Given the description of an element on the screen output the (x, y) to click on. 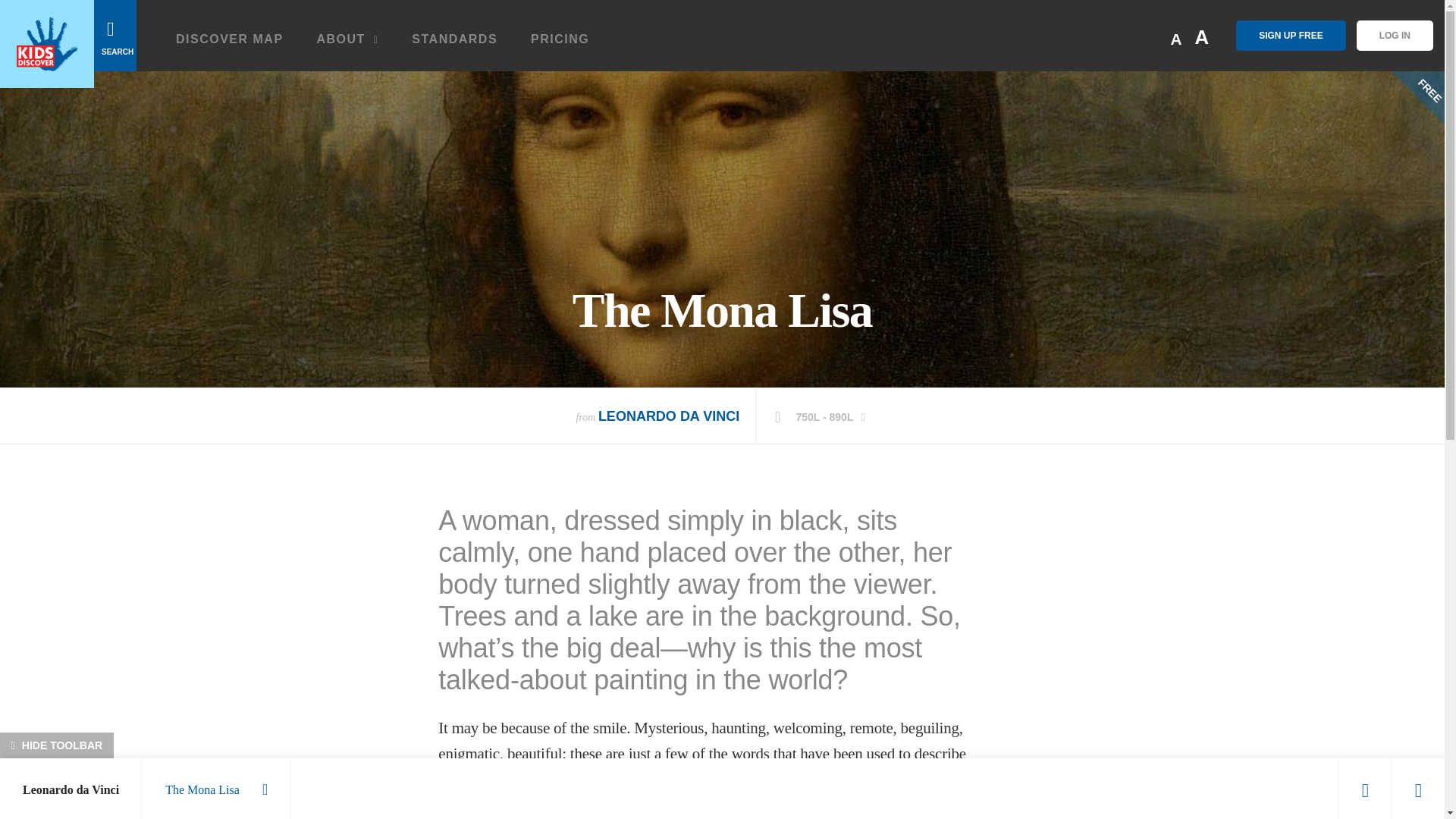
Home (47, 43)
LEONARDO DA VINCI (668, 416)
SIGN UP FREE (1290, 35)
DISCOVER MAP (229, 45)
LOG IN (1394, 35)
PRICING (560, 45)
STANDARDS (454, 45)
